Given the description of an element on the screen output the (x, y) to click on. 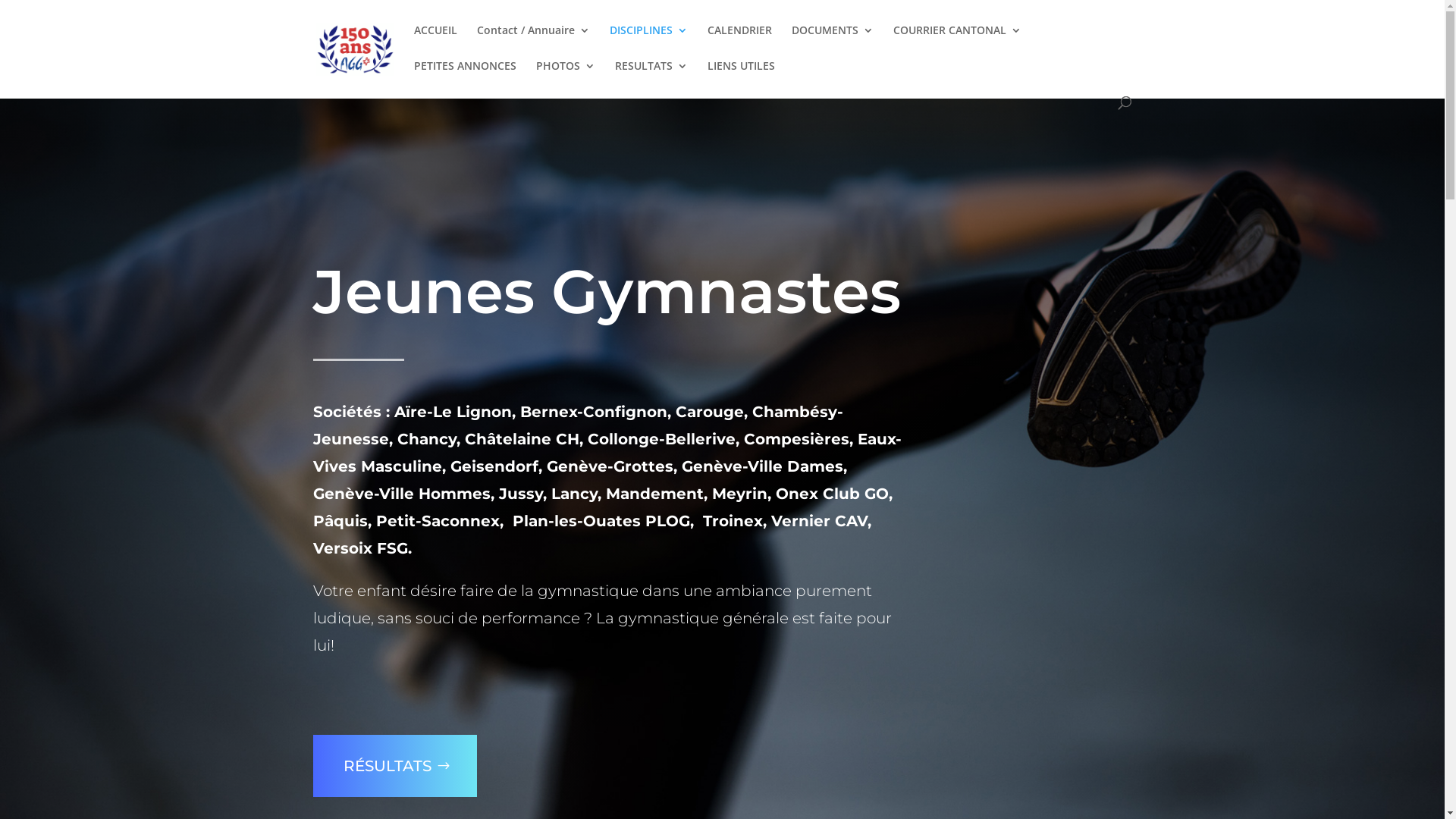
COURRIER CANTONAL Element type: text (957, 42)
DISCIPLINES Element type: text (648, 42)
CALENDRIER Element type: text (738, 42)
LIENS UTILES Element type: text (740, 78)
ACCUEIL Element type: text (435, 42)
Contact / Annuaire Element type: text (532, 42)
PHOTOS Element type: text (564, 78)
RESULTATS Element type: text (650, 78)
PETITES ANNONCES Element type: text (465, 78)
DOCUMENTS Element type: text (832, 42)
